Given the description of an element on the screen output the (x, y) to click on. 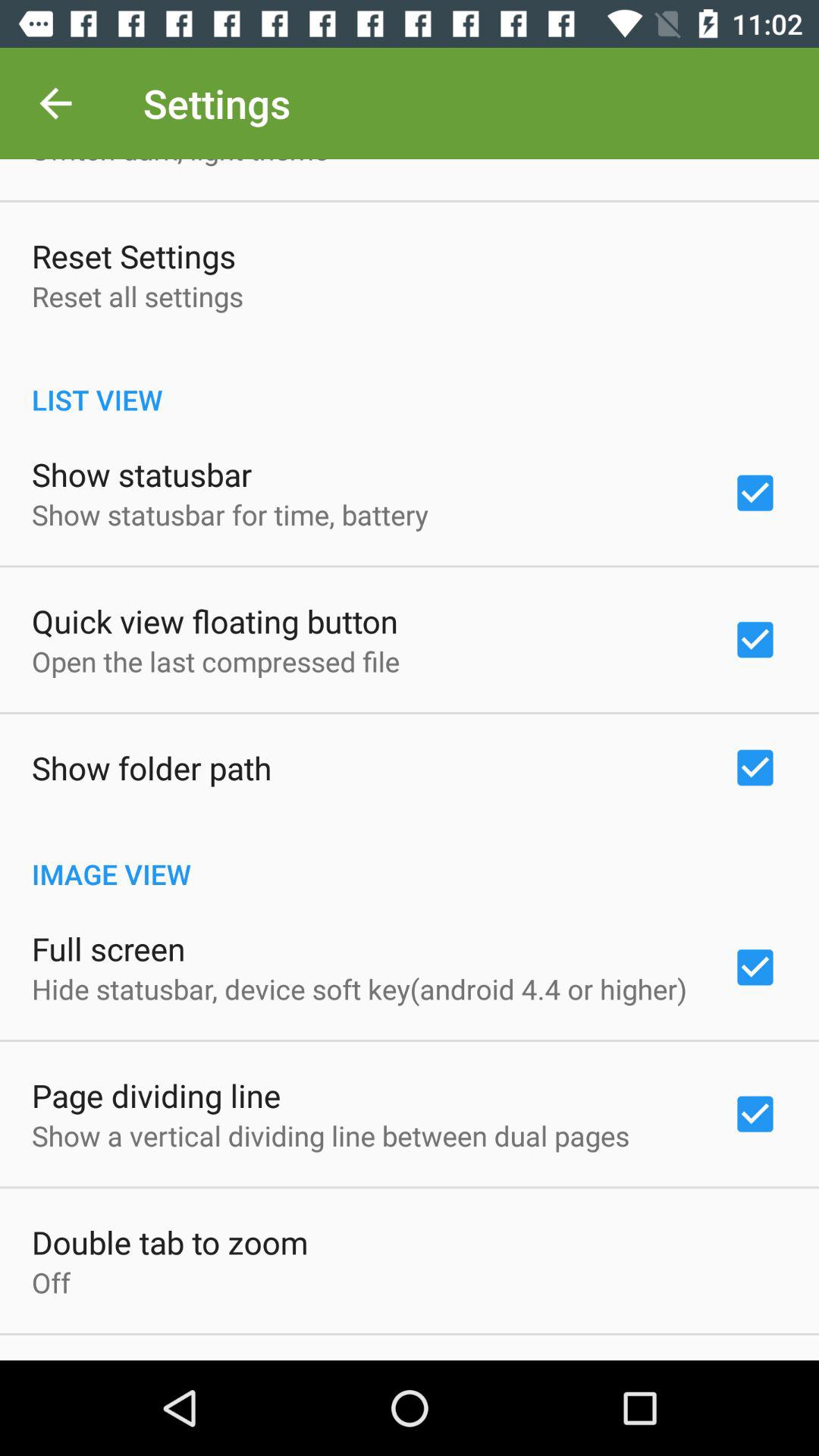
scroll to the image view item (409, 857)
